Given the description of an element on the screen output the (x, y) to click on. 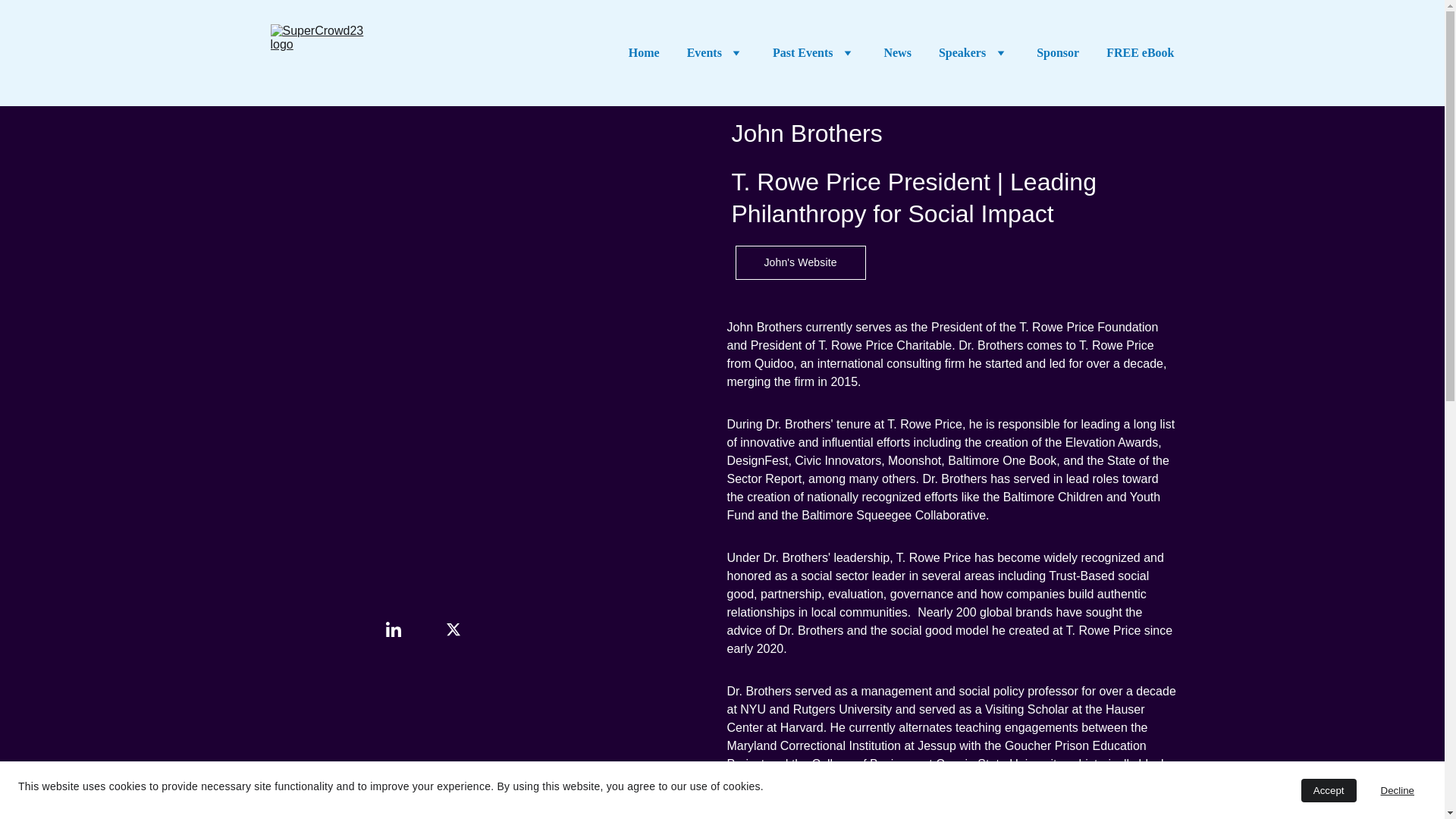
Home (643, 53)
News (897, 53)
Go to Linkedin-in page (393, 629)
Go to Twitter page (453, 629)
